Given the description of an element on the screen output the (x, y) to click on. 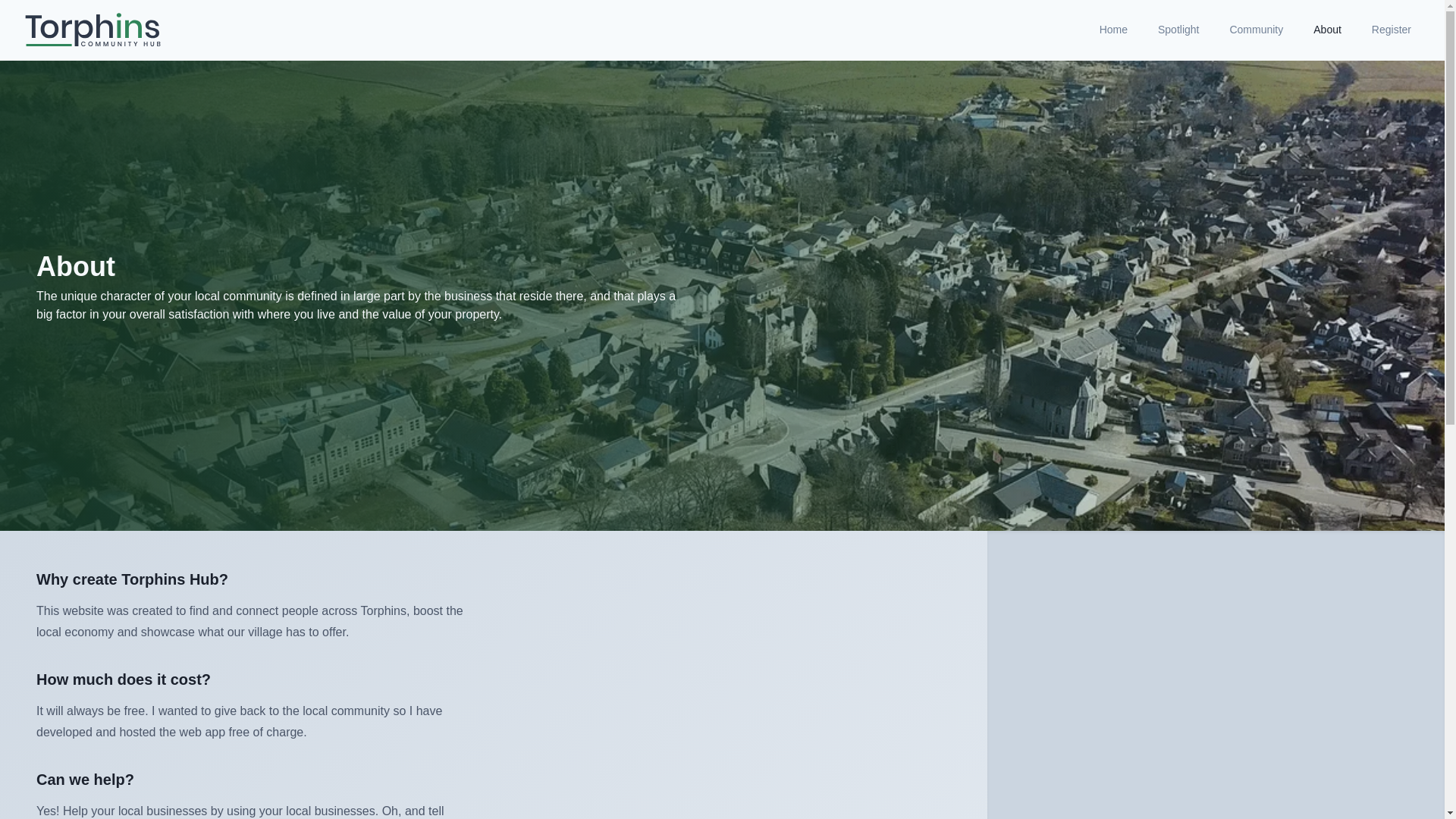
Community (1256, 30)
About (1327, 30)
Register (1391, 30)
Spotlight (1178, 30)
Home (1113, 30)
